Given the description of an element on the screen output the (x, y) to click on. 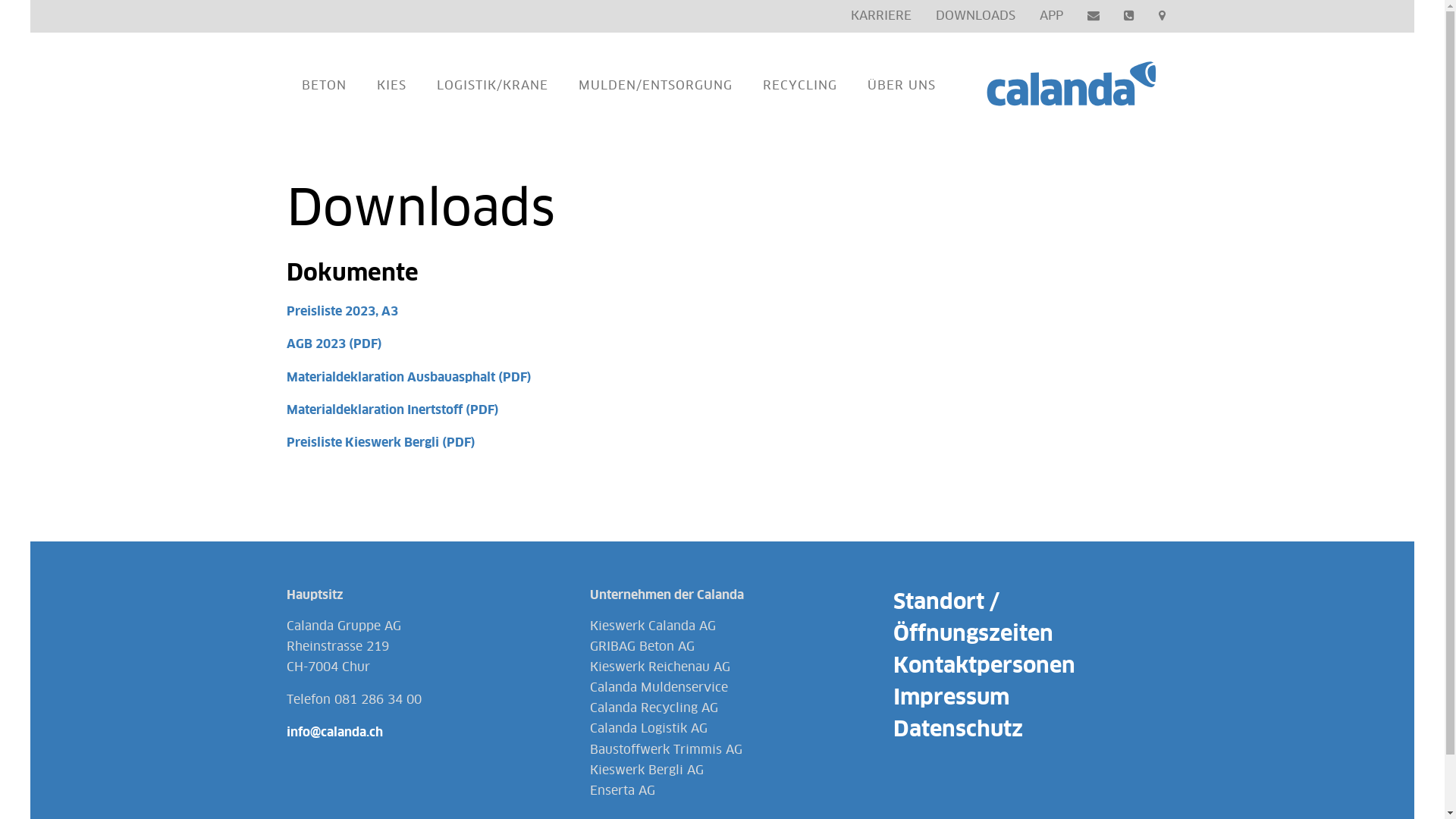
Preisliste 2023, A3 Element type: text (342, 311)
RECYCLING Element type: text (799, 85)
DOWNLOADS Element type: text (975, 16)
KARRIERE Element type: text (880, 16)
KIES Element type: text (390, 85)
Materialdeklaration Inertstoff (PDF) Element type: text (392, 410)
info@calanda.ch Element type: text (334, 732)
Impressum Element type: text (951, 698)
APP Element type: text (1050, 16)
AGB 2023 (PDF) Element type: text (334, 344)
MULDEN/ENTSORGUNG Element type: text (654, 85)
Datenschutz Element type: text (957, 729)
Preisliste Kieswerk Bergli (PDF) Element type: text (380, 442)
LOGISTIK/KRANE Element type: text (492, 85)
BETON Element type: text (323, 85)
Kontaktpersonen Element type: text (984, 666)
Materialdeklaration Ausbauasphalt (PDF) Element type: text (408, 377)
